Given the description of an element on the screen output the (x, y) to click on. 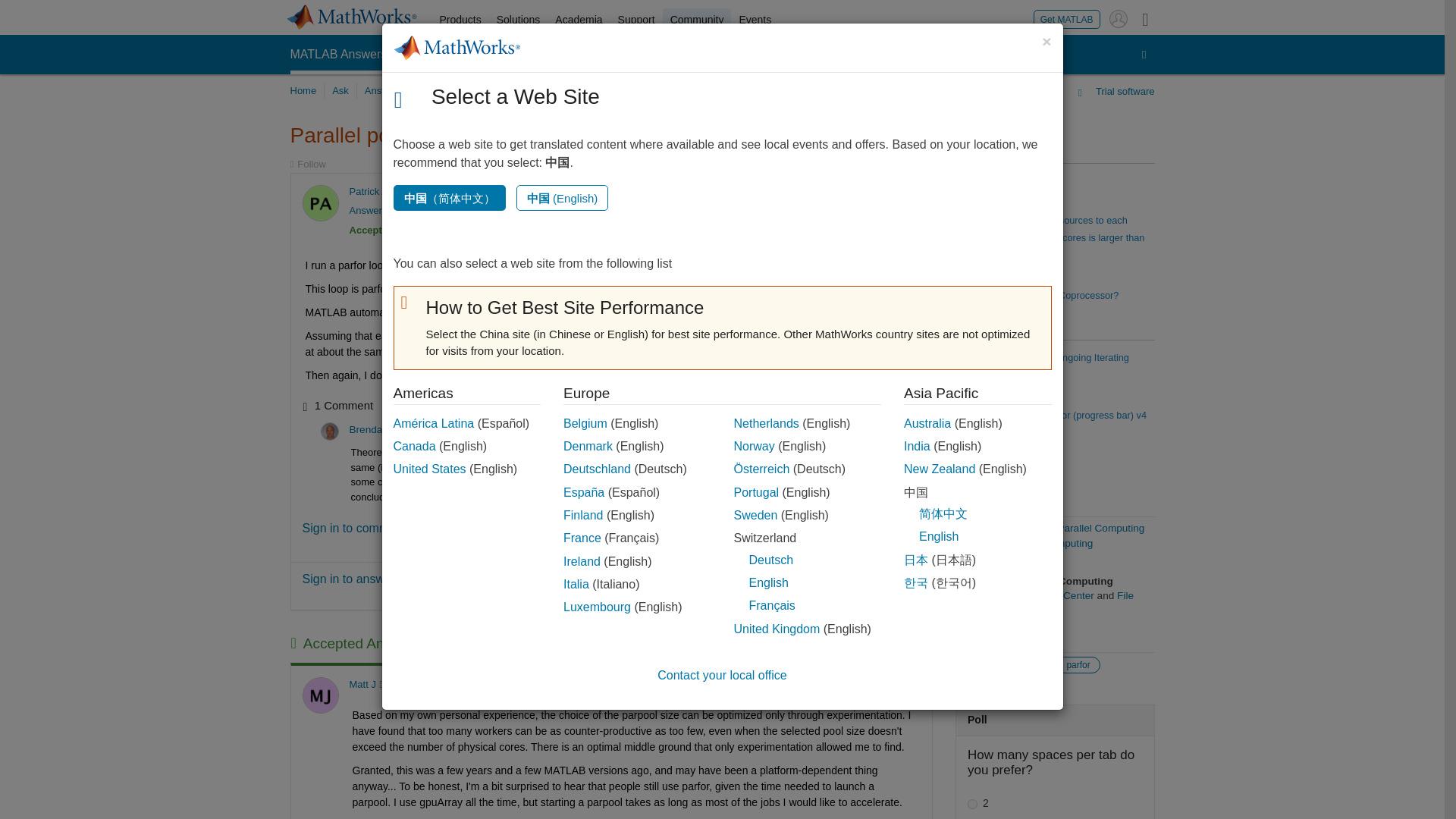
Get MATLAB (1066, 18)
Sign In to Your MathWorks Account (1117, 18)
Sign in to follow activity (306, 163)
Direct link to this question (906, 192)
Support (636, 19)
Academia (578, 19)
Solutions (518, 19)
Sign in to vote for questions and answers (855, 193)
Events (754, 19)
Community (697, 19)
